Given the description of an element on the screen output the (x, y) to click on. 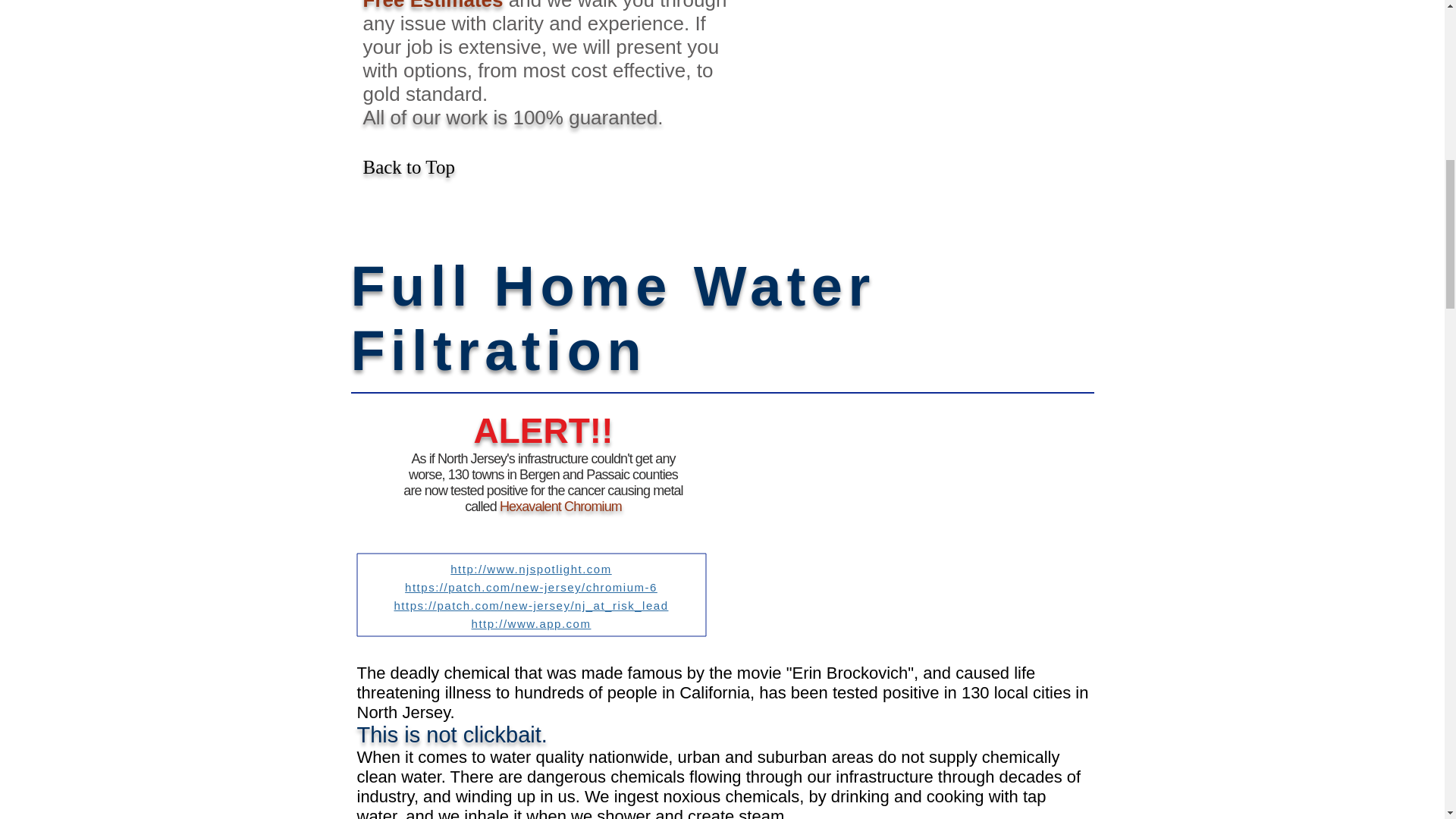
External YouTube (906, 515)
Back to Top (408, 166)
